Given the description of an element on the screen output the (x, y) to click on. 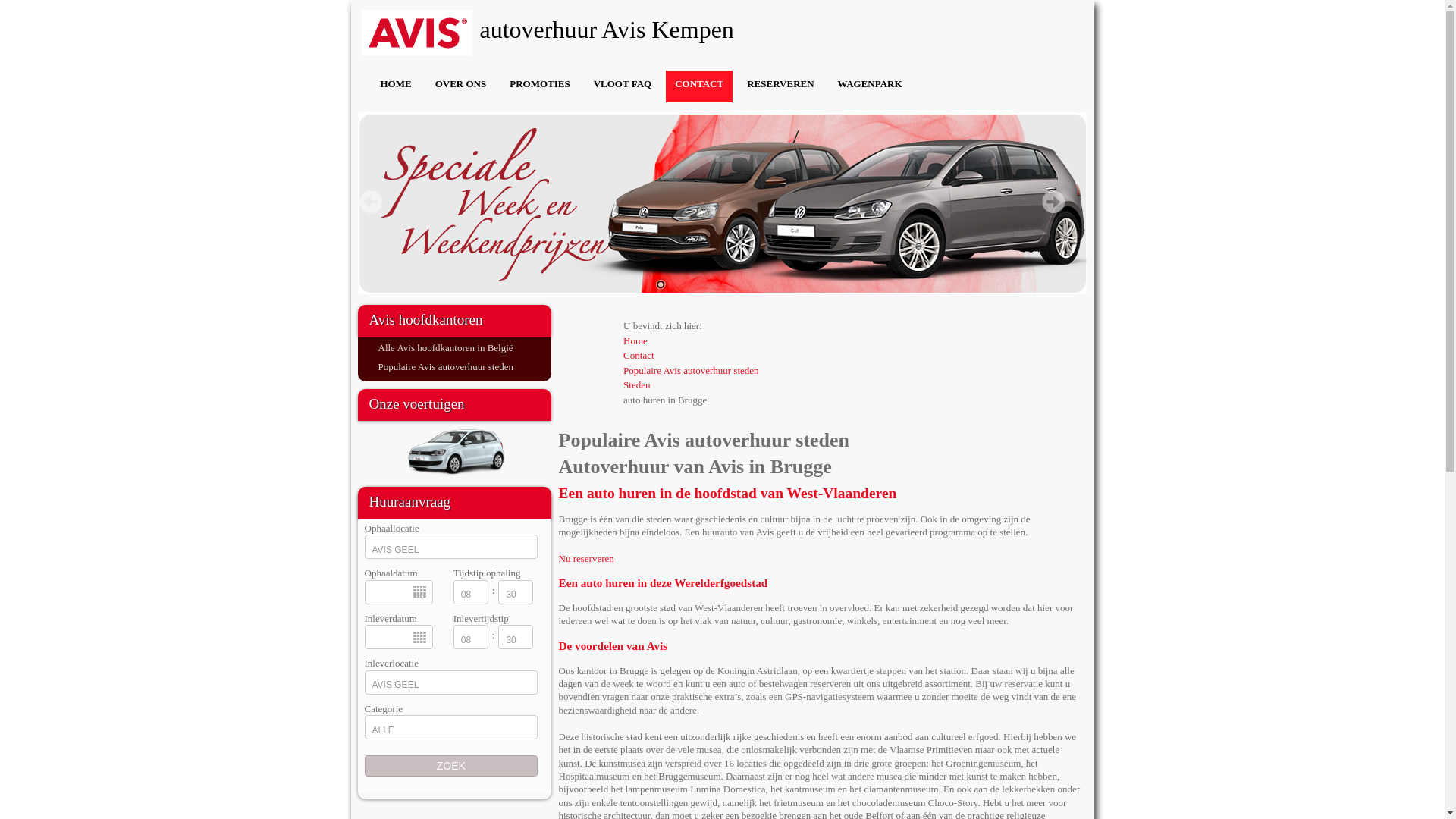
RESERVEREN Element type: text (779, 86)
Prev Element type: text (370, 201)
Next Element type: text (1052, 201)
VLOOT FAQ Element type: text (622, 86)
autoverhuur Avis Kempen Element type: text (676, 29)
WAGENPARK Element type: text (869, 86)
1 Element type: text (660, 284)
Populaire Avis autoverhuur steden Element type: text (444, 366)
Home Element type: text (635, 340)
Contact Element type: text (638, 354)
PROMOTIES Element type: text (539, 86)
CONTACT Element type: text (698, 86)
Nu reserveren Element type: text (585, 558)
Steden Element type: text (636, 384)
OVER ONS Element type: text (460, 86)
Populaire Avis autoverhuur steden Element type: text (690, 369)
Zoek Element type: text (450, 765)
HOME Element type: text (395, 86)
